Given the description of an element on the screen output the (x, y) to click on. 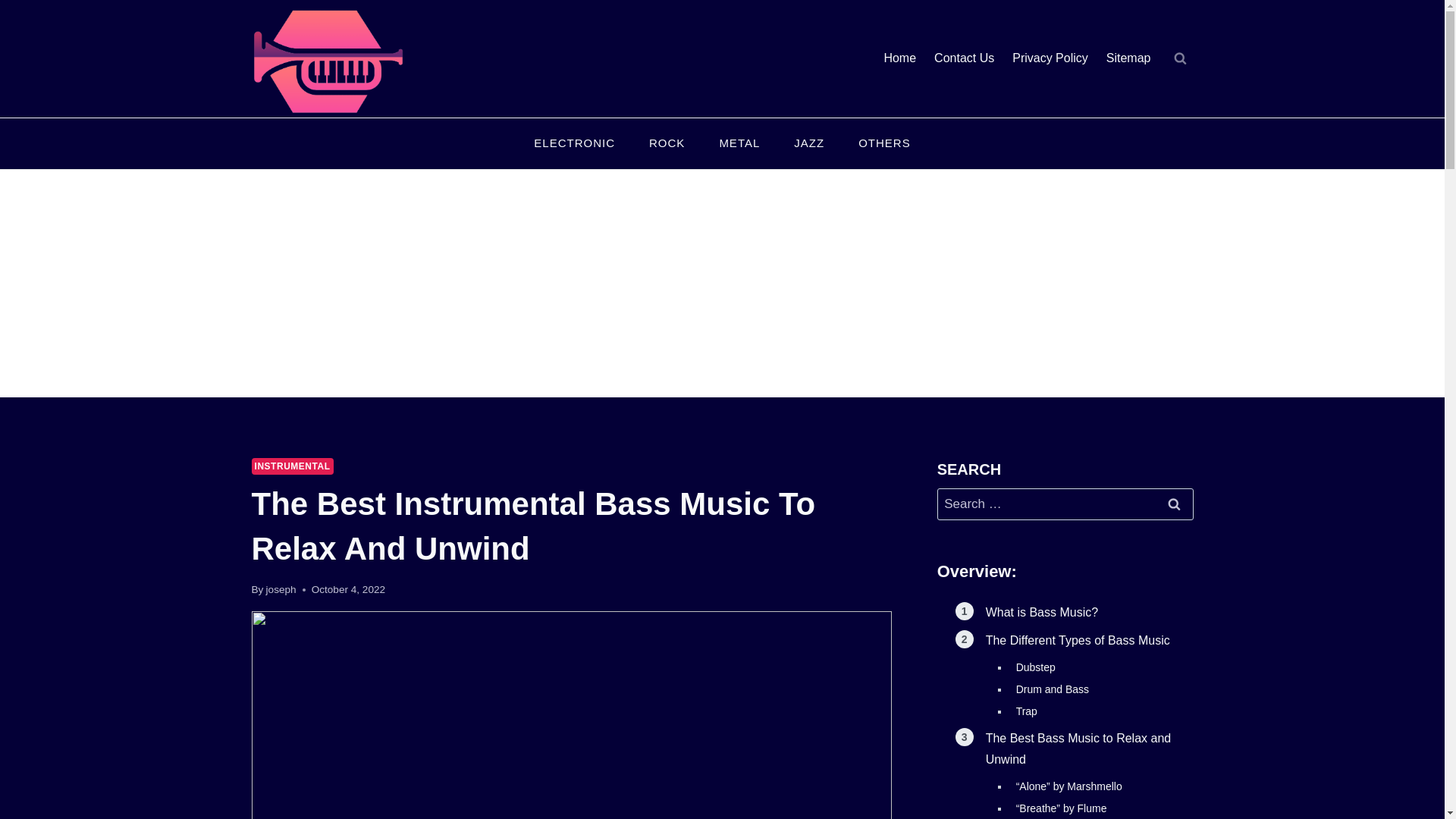
joseph (281, 589)
Search (1174, 504)
Contact Us (963, 58)
ELECTRONIC (573, 143)
ROCK (666, 143)
Privacy Policy (1050, 58)
INSTRUMENTAL (292, 466)
OTHERS (884, 143)
JAZZ (809, 143)
Sitemap (1128, 58)
